Given the description of an element on the screen output the (x, y) to click on. 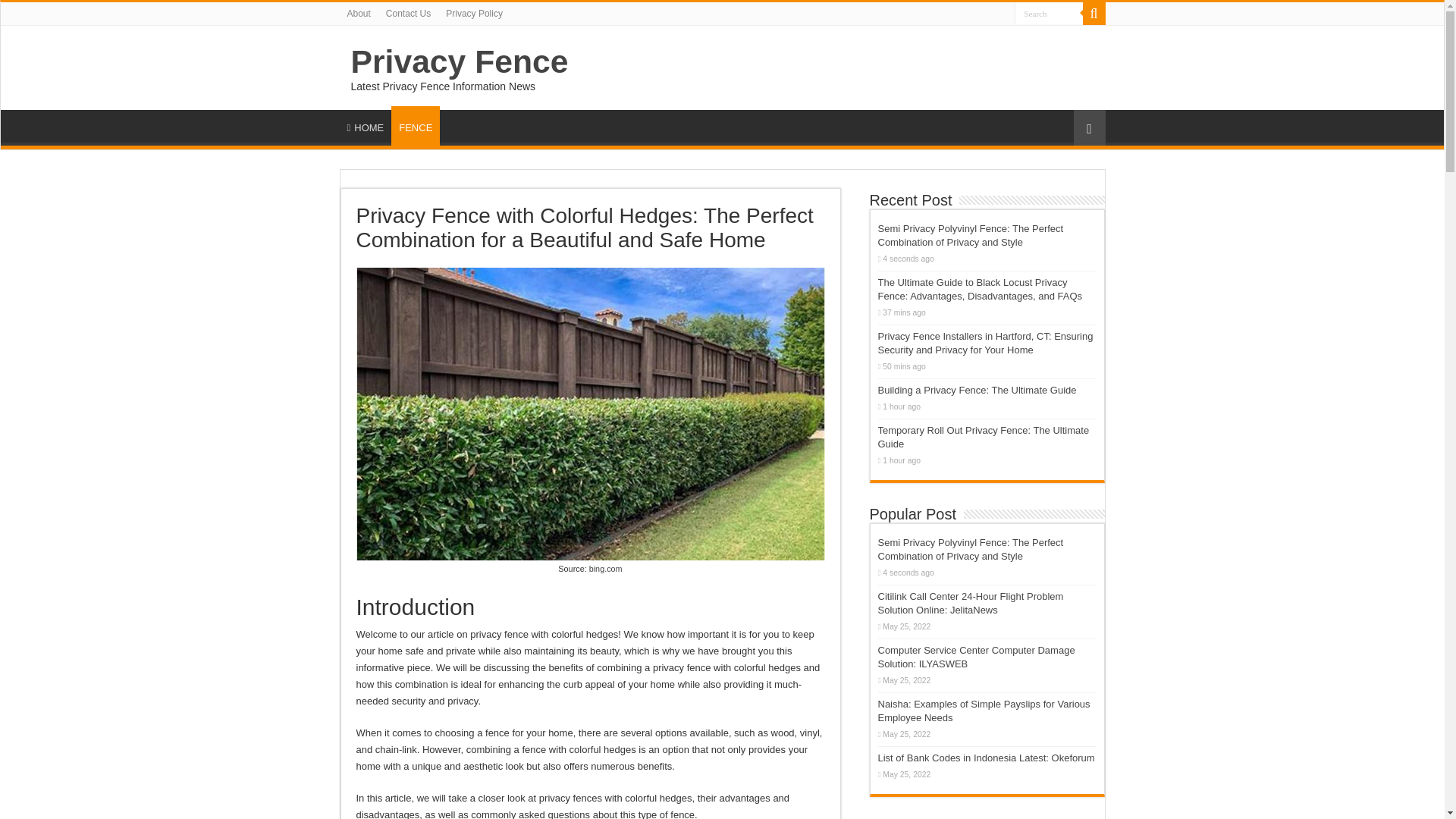
Privacy Policy (474, 13)
FENCE (415, 125)
Search (1094, 13)
HOME (365, 125)
About (358, 13)
bing.com (606, 568)
Search (1048, 13)
Search (1048, 13)
